Given the description of an element on the screen output the (x, y) to click on. 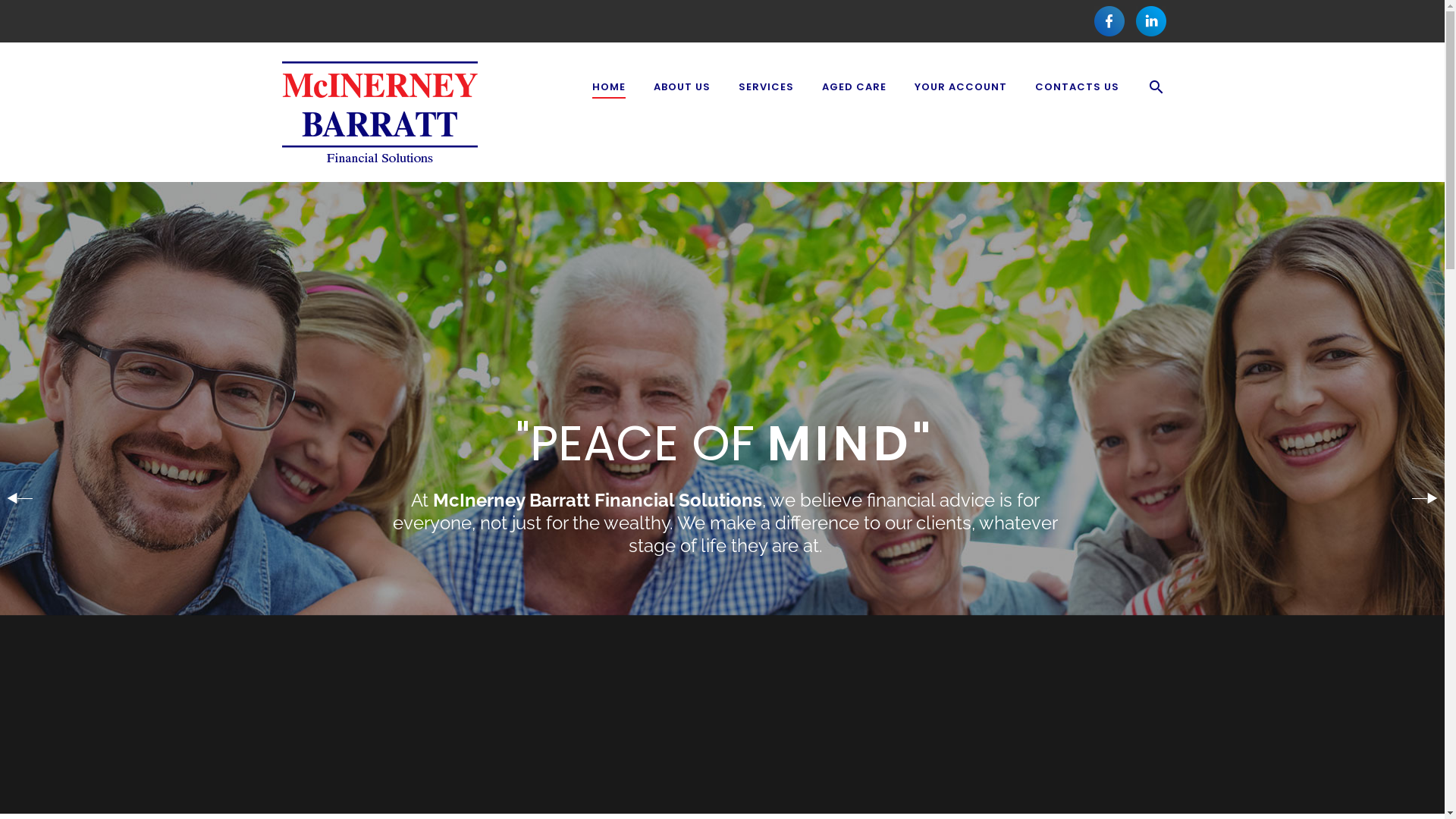
YOUR ACCOUNT Element type: text (960, 86)
SERVICES Element type: text (765, 86)
ABOUT US Element type: text (681, 86)
AGED CARE Element type: text (854, 86)
HOME Element type: text (607, 86)
CONTACTS US Element type: text (1076, 86)
